Given the description of an element on the screen output the (x, y) to click on. 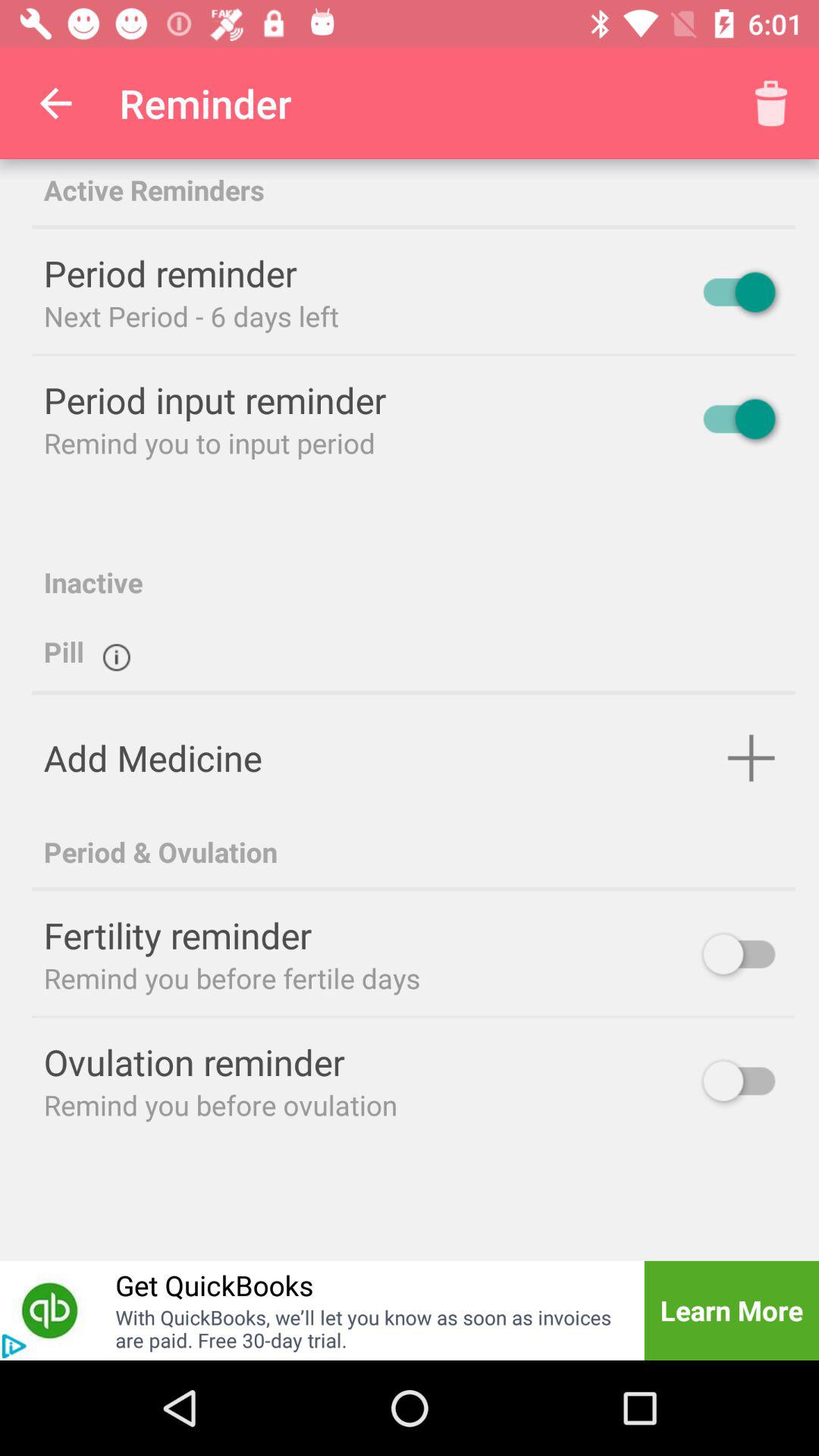
click to get quickbooks (49, 1310)
